Given the description of an element on the screen output the (x, y) to click on. 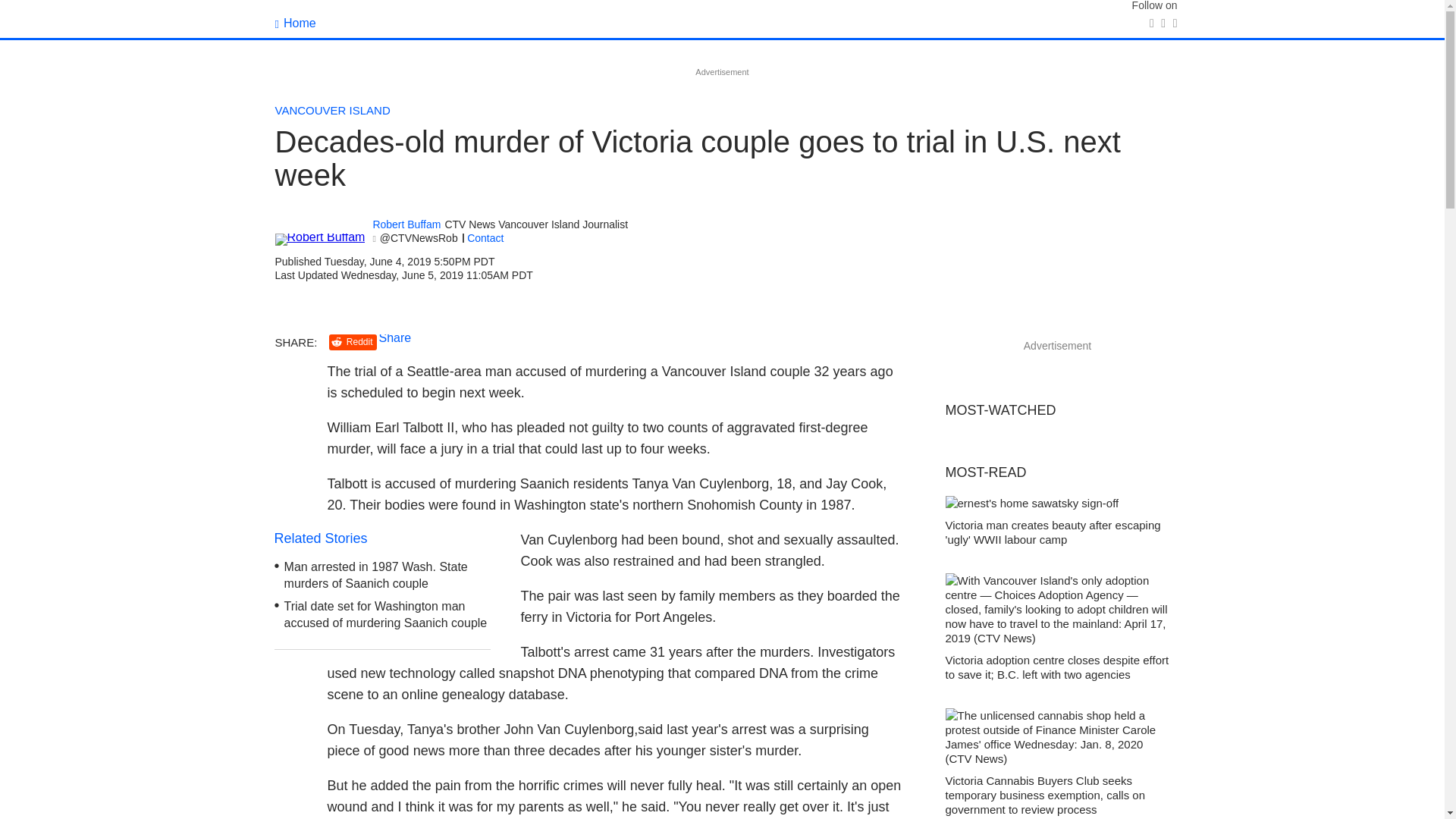
Reddit (353, 342)
VANCOUVER ISLAND (332, 110)
Man arrested in 1987 Wash. State murders of Saanich couple (375, 575)
Home (295, 22)
Contact (485, 237)
Share (395, 337)
Robert Buffam (406, 224)
